Given the description of an element on the screen output the (x, y) to click on. 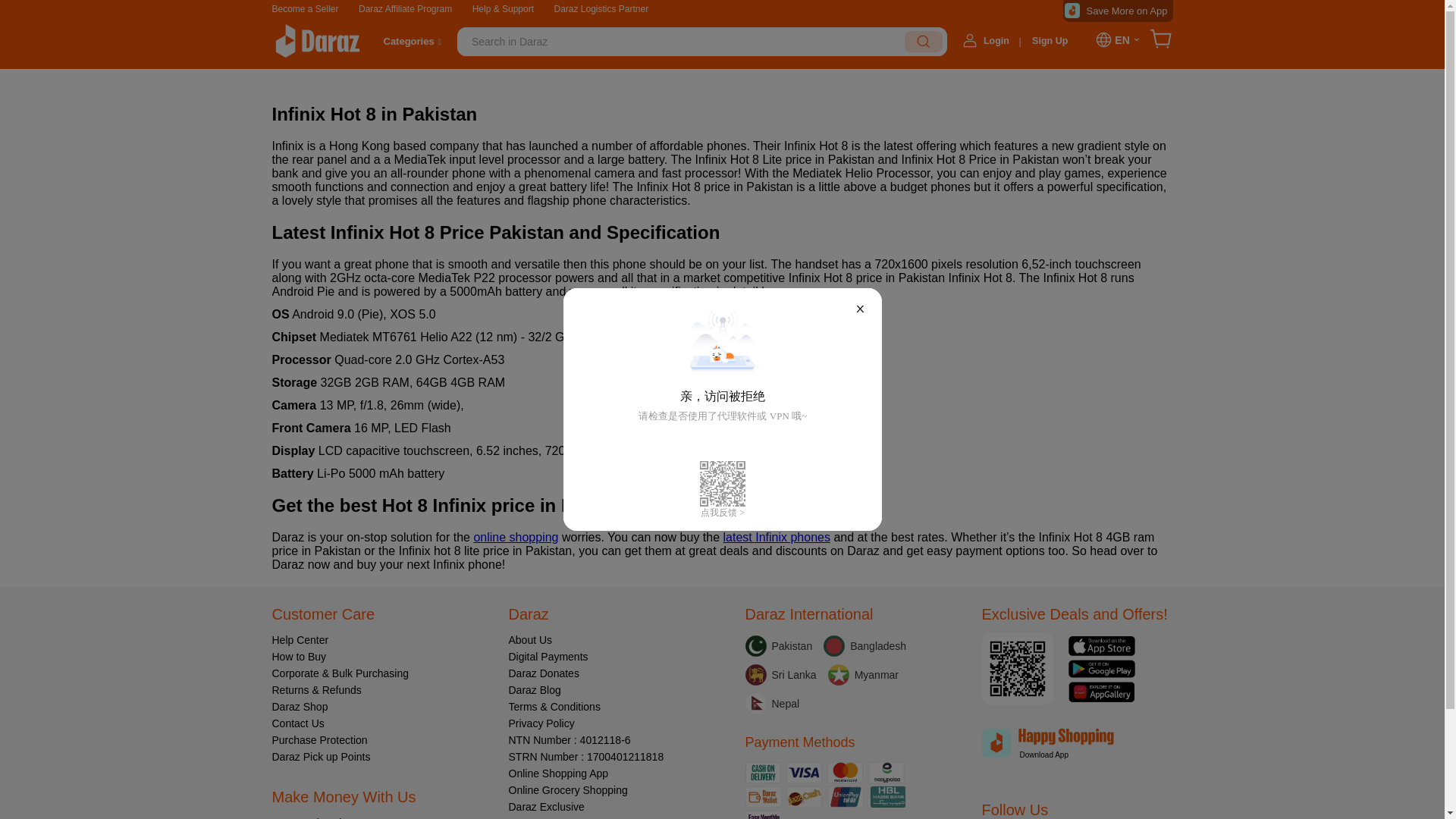
Sign Up (1049, 39)
Daraz Affiliate Program (404, 9)
Categories (408, 41)
Daraz Logistics Partner (600, 9)
Become a Seller (303, 9)
SEARCH (923, 41)
Login (996, 40)
